Given the description of an element on the screen output the (x, y) to click on. 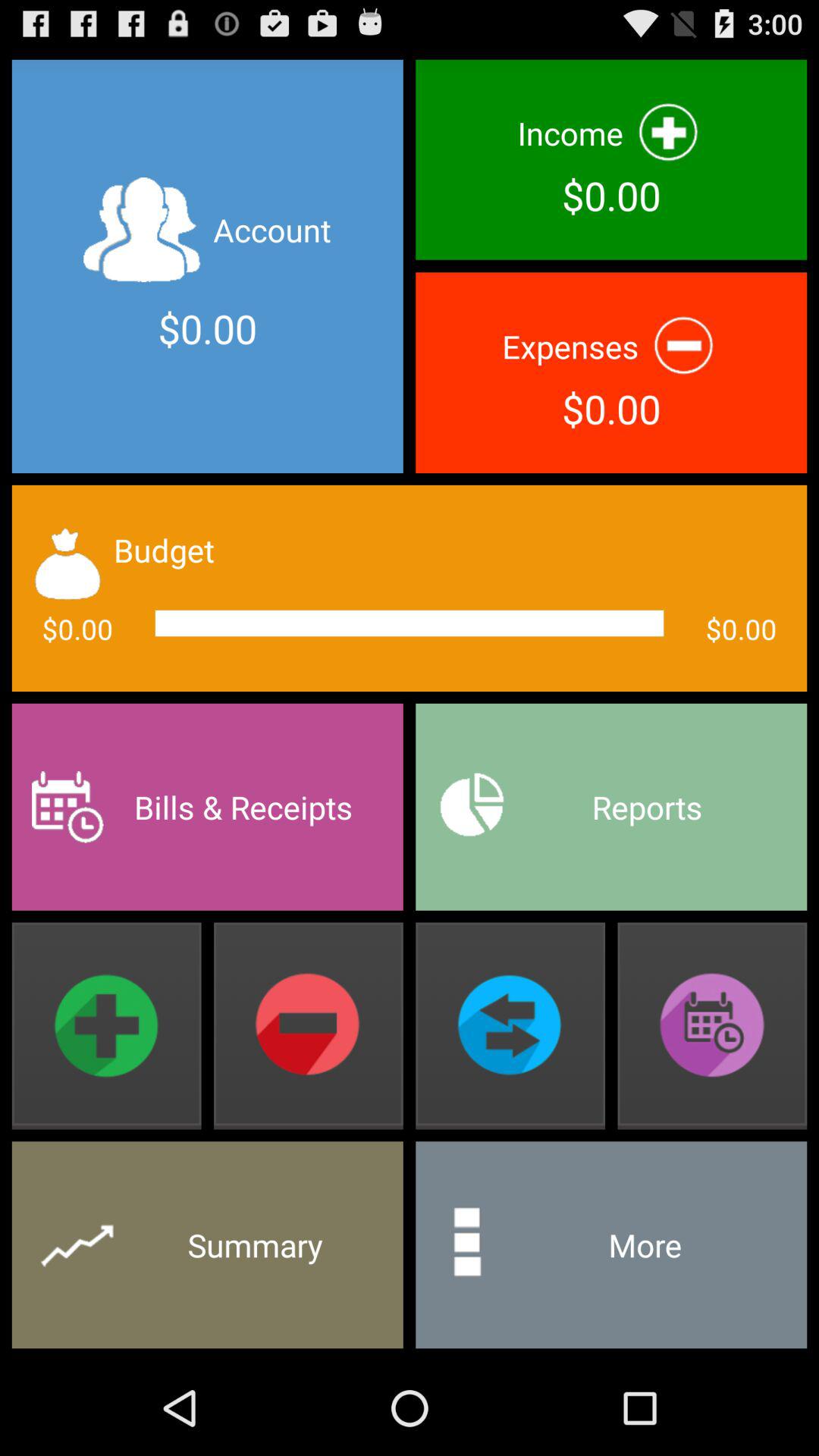
launch app below the bills & receipts app (106, 1025)
